Given the description of an element on the screen output the (x, y) to click on. 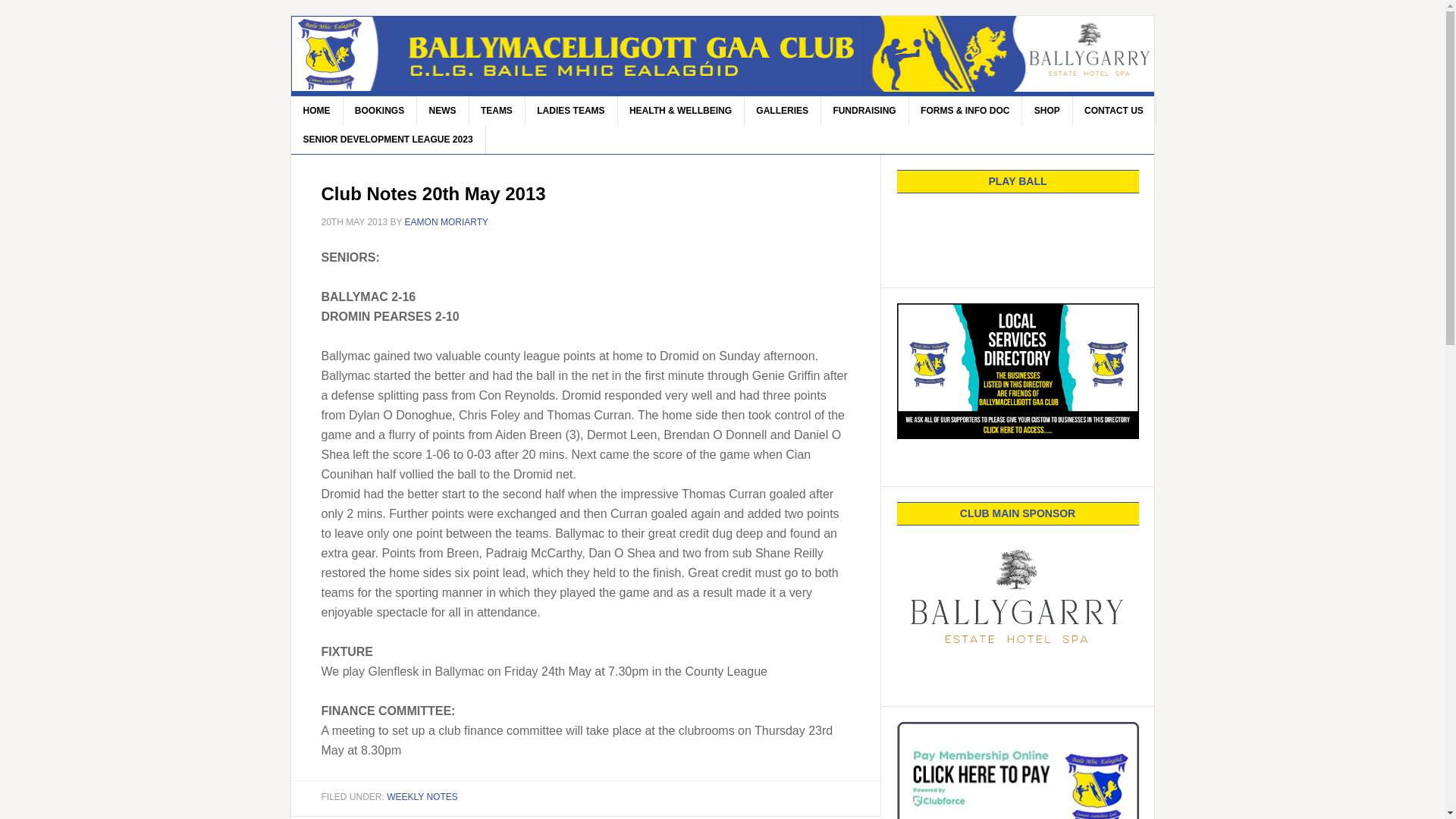
LADIES TEAMS (570, 110)
HOME (317, 110)
BOOKINGS (379, 110)
NEWS (442, 110)
TEAMS (496, 110)
